Given the description of an element on the screen output the (x, y) to click on. 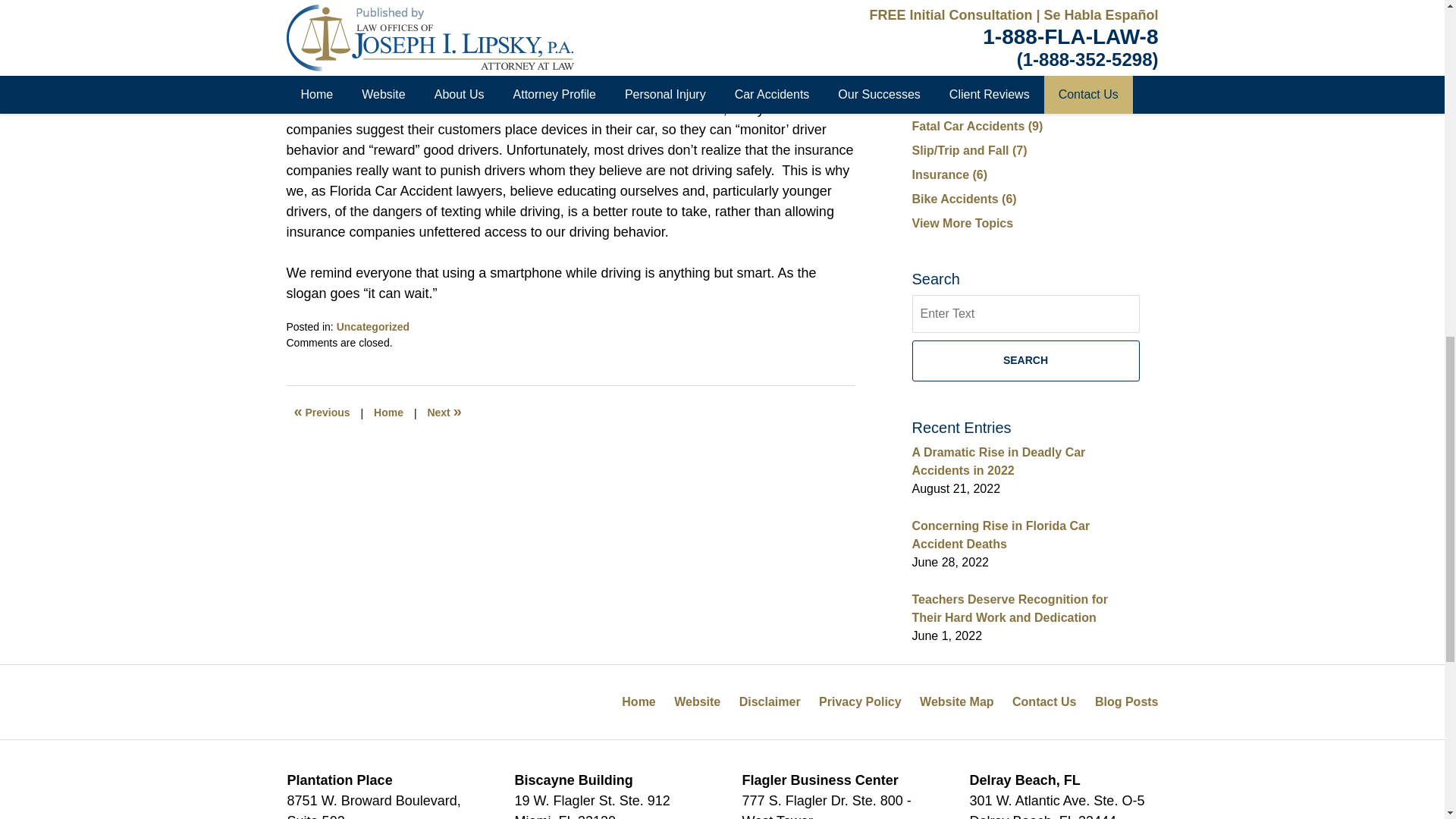
Drivers Remain Distracted Even After Texting When Stopped (322, 412)
View all posts in Uncategorized (372, 326)
Uncategorized (372, 326)
Home (388, 412)
